Given the description of an element on the screen output the (x, y) to click on. 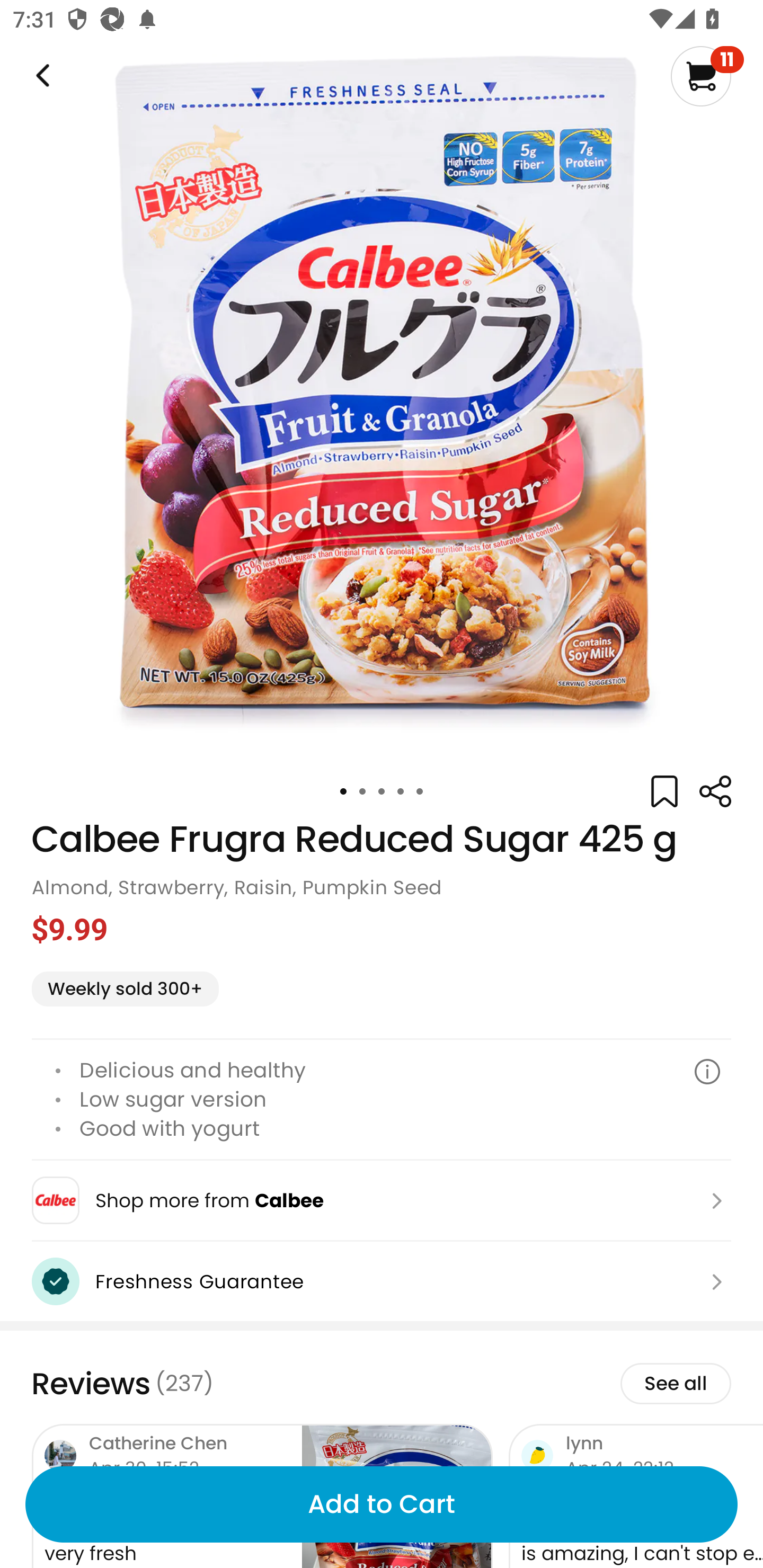
Weee! (41, 75)
11 (706, 75)
Weee! (714, 791)
Shop more from Calbee Weee! (381, 1200)
Freshness Guarantee (381, 1281)
Reviews (237) See all (381, 1383)
Add to Cart (381, 1504)
Add to Cart (381, 1504)
